Given the description of an element on the screen output the (x, y) to click on. 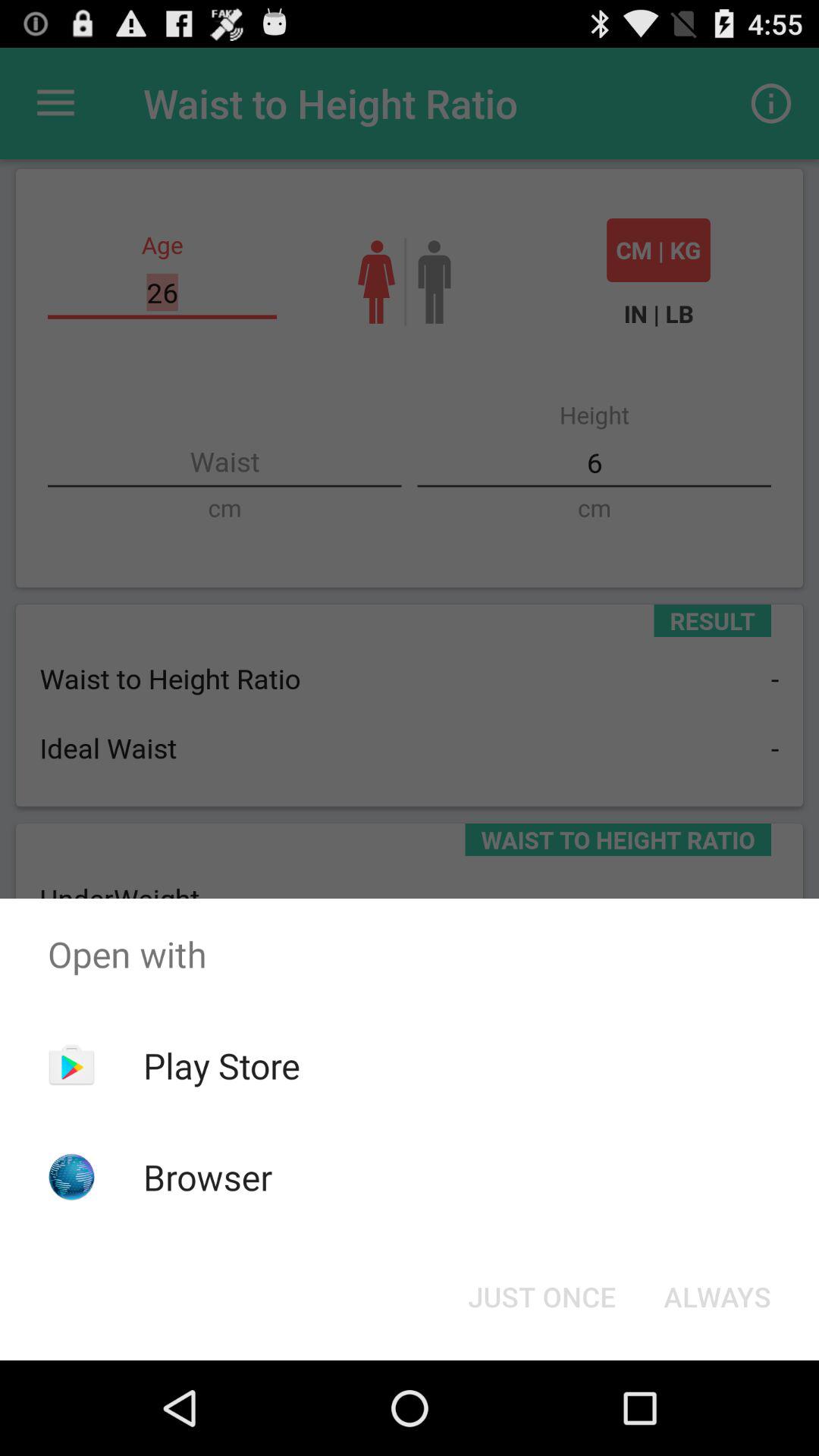
choose app above the browser icon (221, 1065)
